Given the description of an element on the screen output the (x, y) to click on. 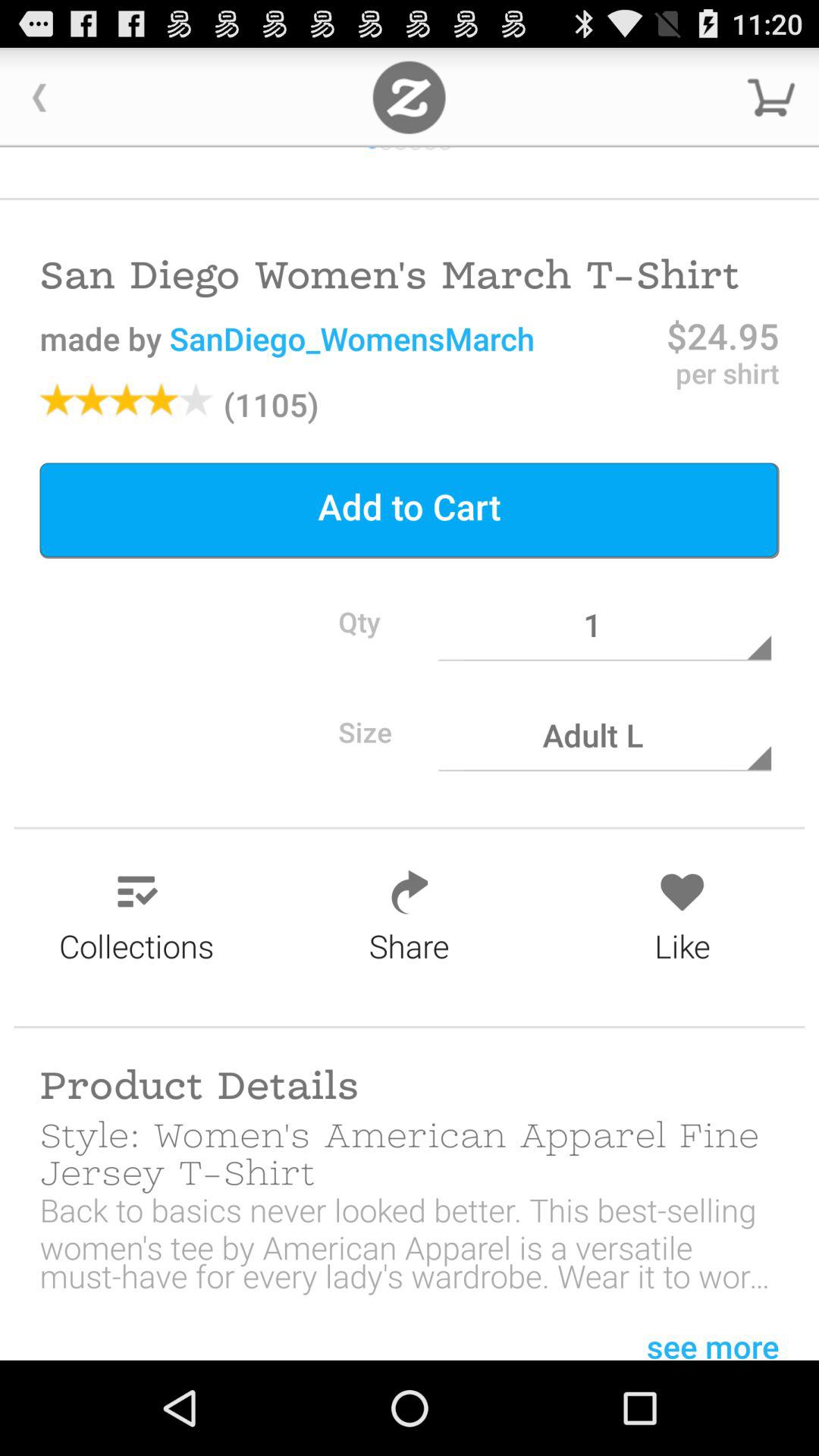
shopping select button (771, 97)
